Given the description of an element on the screen output the (x, y) to click on. 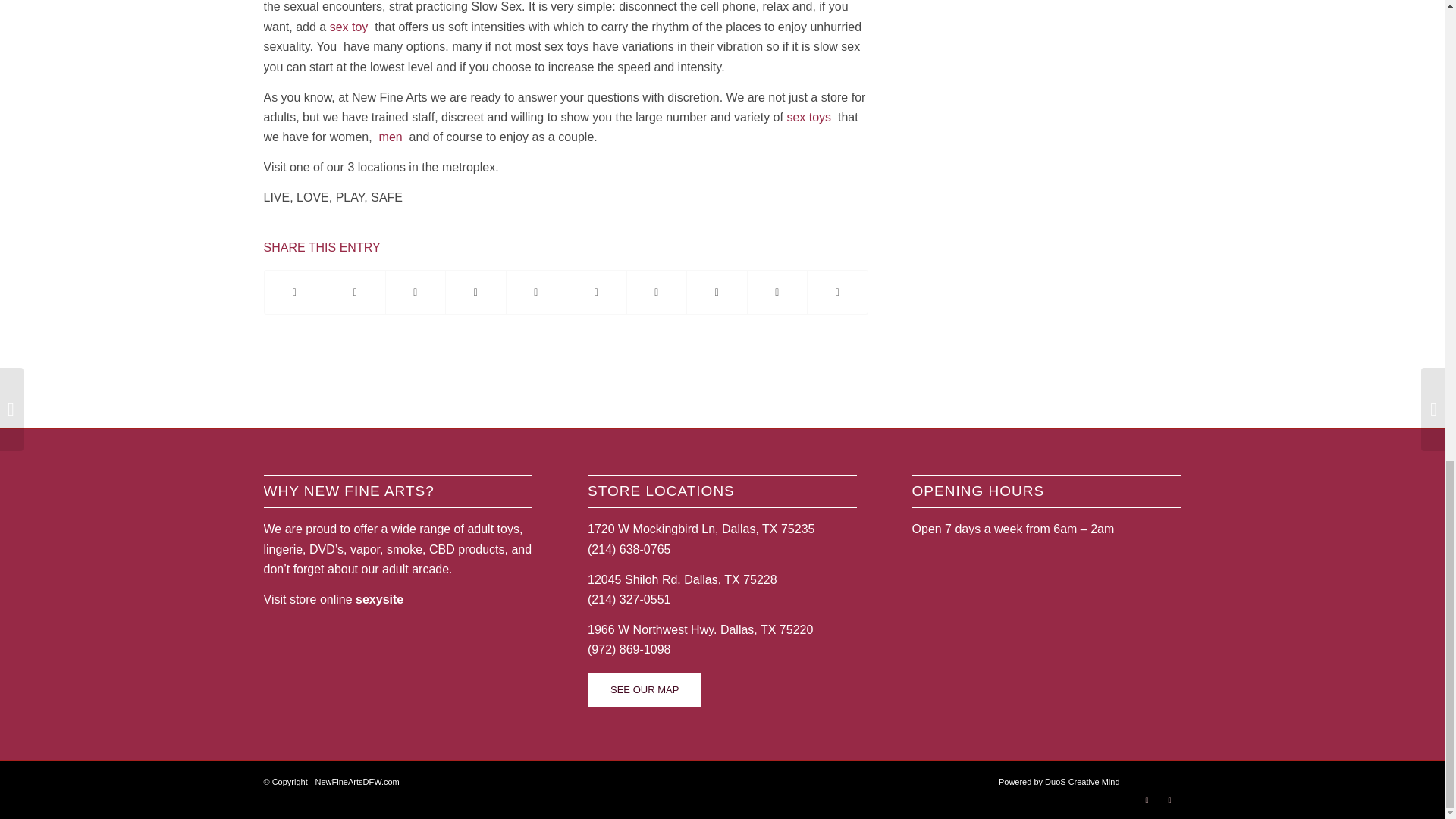
A full service marketing and SEO Company. (1058, 781)
sexysite (379, 599)
sex toys (808, 116)
Instagram (1169, 799)
men (390, 136)
Facebook (1146, 799)
sex toy (349, 26)
